Given the description of an element on the screen output the (x, y) to click on. 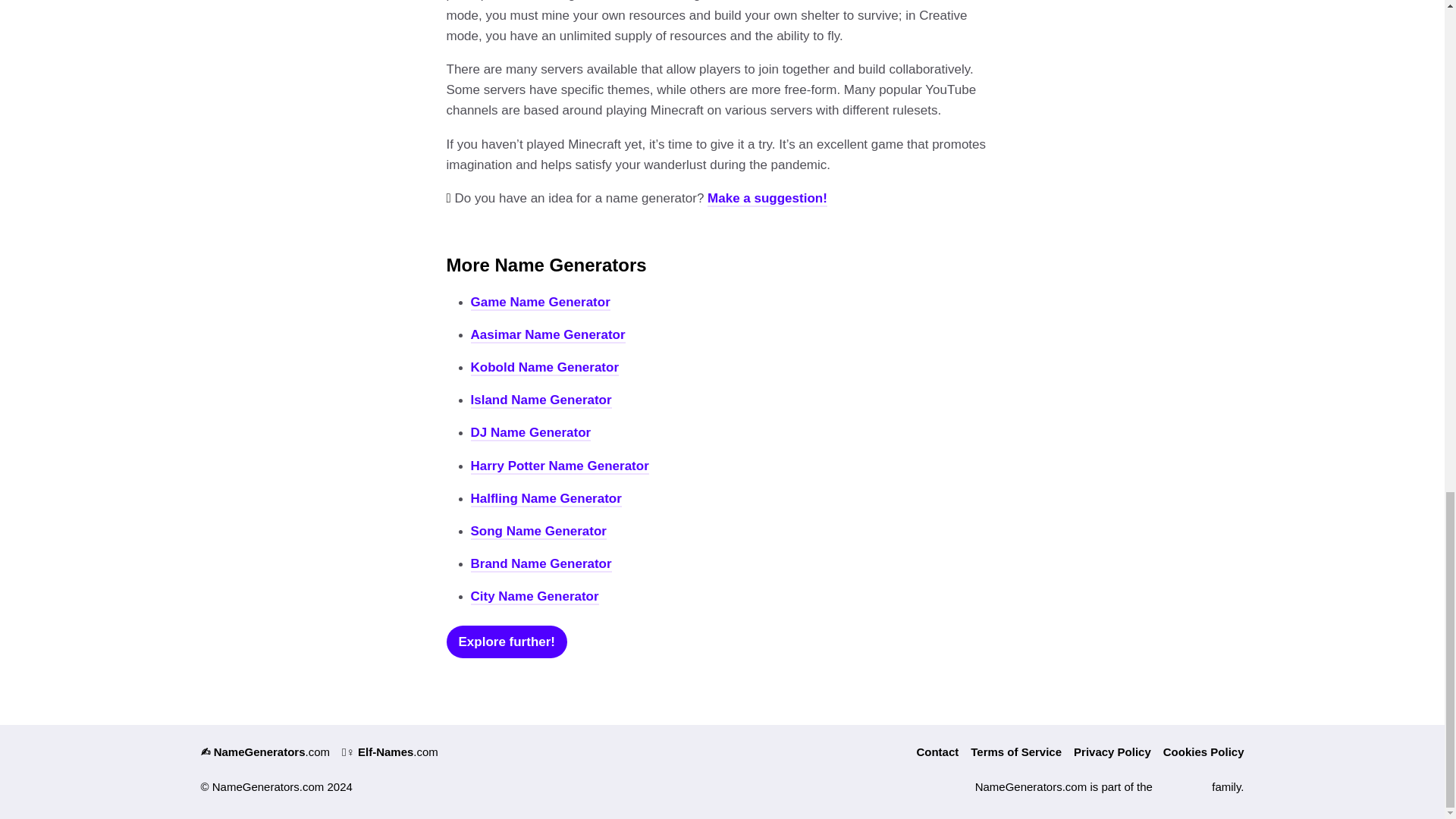
Halfling Name Generator (545, 498)
Harry Potter Name Generator (558, 466)
Game Name Generator (540, 302)
Explore further! (506, 641)
Aasimar Name Generator (547, 335)
Island Name Generator (540, 400)
City Name Generator (534, 596)
Song Name Generator (538, 531)
Make a suggestion! (767, 198)
Brand Name Generator (540, 564)
DJ Name Generator (530, 433)
Kobold Name Generator (544, 367)
